Given the description of an element on the screen output the (x, y) to click on. 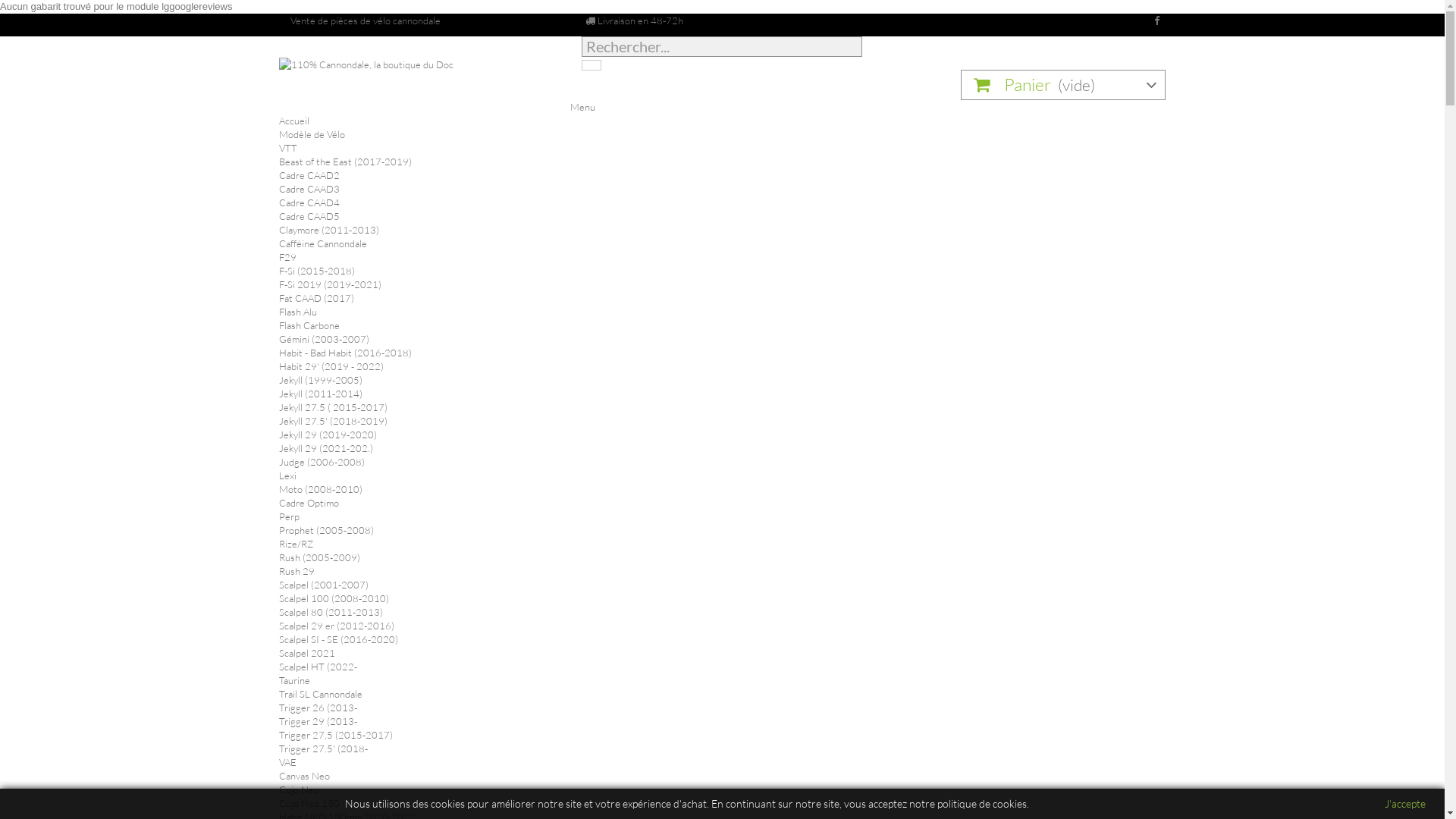
Scalpel 29 er (2012-2016) Element type: text (336, 625)
Cadre CAAD2 Element type: text (309, 175)
Habit 29' (2019 - 2022) Element type: text (331, 366)
Jekyll (1999-2005) Element type: text (320, 379)
Jekyll 27.5' (2018-2019) Element type: text (333, 420)
Facebook Element type: hover (1153, 20)
Cadre CAAD4 Element type: text (309, 202)
Claymore (2011-2013) Element type: text (329, 229)
Perp Element type: text (289, 516)
110% Cannondale, la boutique du Doc Element type: hover (419, 84)
Trail SL Cannondale Element type: text (320, 693)
Panier (vide) Element type: text (1062, 84)
Jekyll (2011-2014) Element type: text (320, 393)
Cujo Neo 130 Element type: text (309, 803)
Trigger 26 (2013- Element type: text (318, 707)
Flash Alu Element type: text (297, 311)
Rush 29 Element type: text (296, 570)
Scalpel 80 (2011-2013) Element type: text (330, 611)
Scalpel 2021 Element type: text (307, 652)
Cadre Optimo Element type: text (308, 502)
Jekyll 27.5 ( 2015-2017) Element type: text (333, 407)
J'accepte Element type: text (1404, 803)
Rize/RZ Element type: text (296, 543)
Habit - Bad Habit (2016-2018) Element type: text (345, 352)
Scalpel (2001-2007) Element type: text (323, 584)
Prophet (2005-2008) Element type: text (326, 530)
Moto (2008-2010) Element type: text (320, 489)
Flash Carbone Element type: text (309, 325)
VTT Element type: text (288, 147)
Jekyll 29 (2019-2020) Element type: text (327, 434)
Trigger 27,5 (2015-2017) Element type: text (335, 734)
Scalpel 100 (2008-2010) Element type: text (334, 598)
Taurine Element type: text (294, 680)
Canvas Neo Element type: text (304, 775)
Trigger 27.5' (2018- Element type: text (323, 748)
Fat CAAD (2017) Element type: text (316, 297)
Trigger 29 (2013- Element type: text (318, 721)
F29 Element type: text (287, 257)
Jekyll 29 (2021-202.) Element type: text (326, 448)
Scalpel SI - SE (2016-2020) Element type: text (338, 639)
Judge (2006-2008) Element type: text (321, 461)
Accueil Element type: text (294, 120)
Cadre CAAD5 Element type: text (309, 216)
Beast of the East (2017-2019) Element type: text (345, 161)
Rush (2005-2009) Element type: text (319, 557)
Cadre CAAD3 Element type: text (309, 188)
F-Si 2019 (2019-2021) Element type: text (330, 284)
Lexi Element type: text (287, 475)
VAE Element type: text (287, 762)
Scalpel HT (2022- Element type: text (318, 666)
Cujo Neo Element type: text (299, 789)
F-Si (2015-2018) Element type: text (316, 270)
